Given the description of an element on the screen output the (x, y) to click on. 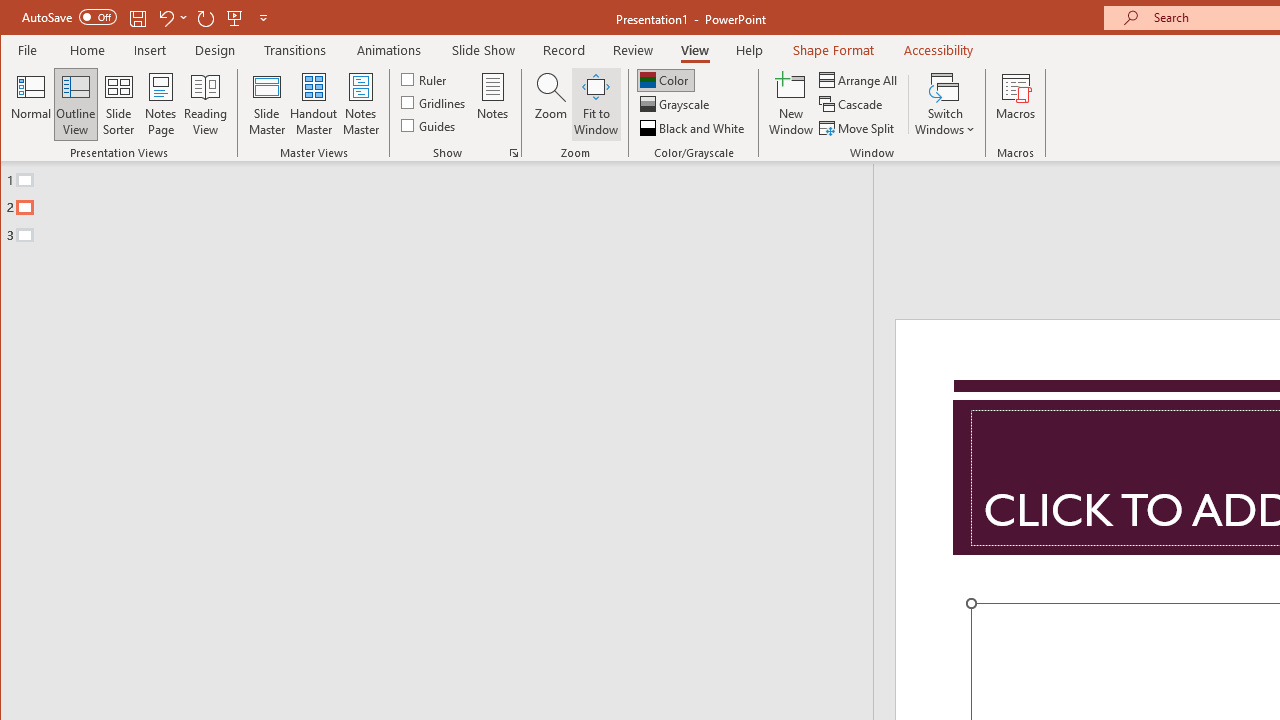
Gridlines (435, 101)
Color (666, 80)
Ruler (425, 78)
Fit to Window (596, 104)
Arrange All (859, 80)
Notes Master (360, 104)
Outline View (75, 104)
Guides (430, 124)
Slide Master (266, 104)
Grid Settings... (513, 152)
